Given the description of an element on the screen output the (x, y) to click on. 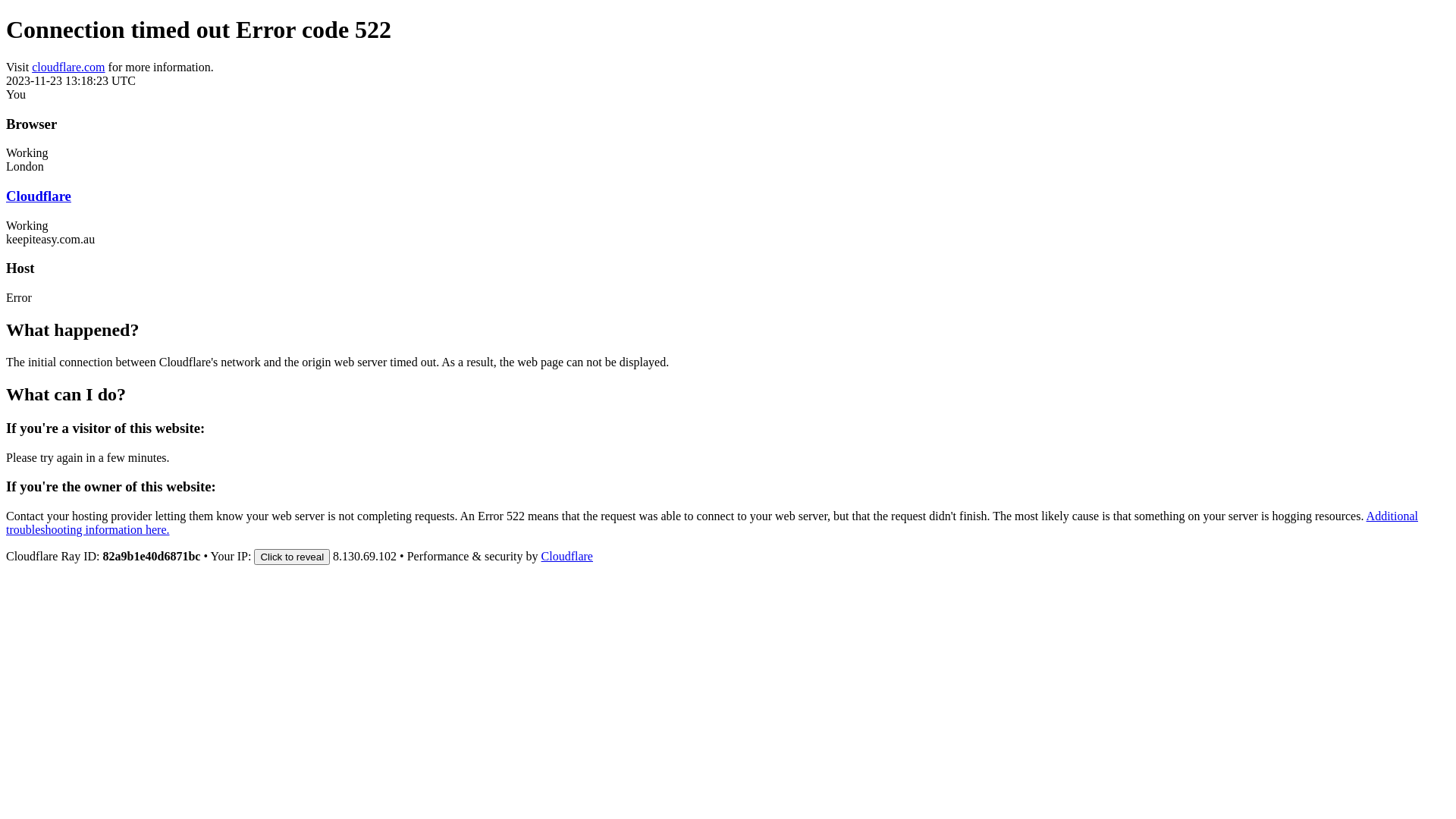
Cloudflare Element type: text (567, 555)
Additional troubleshooting information here. Element type: text (712, 522)
Cloudflare Element type: text (38, 195)
Click to reveal Element type: text (291, 556)
cloudflare.com Element type: text (67, 66)
